Given the description of an element on the screen output the (x, y) to click on. 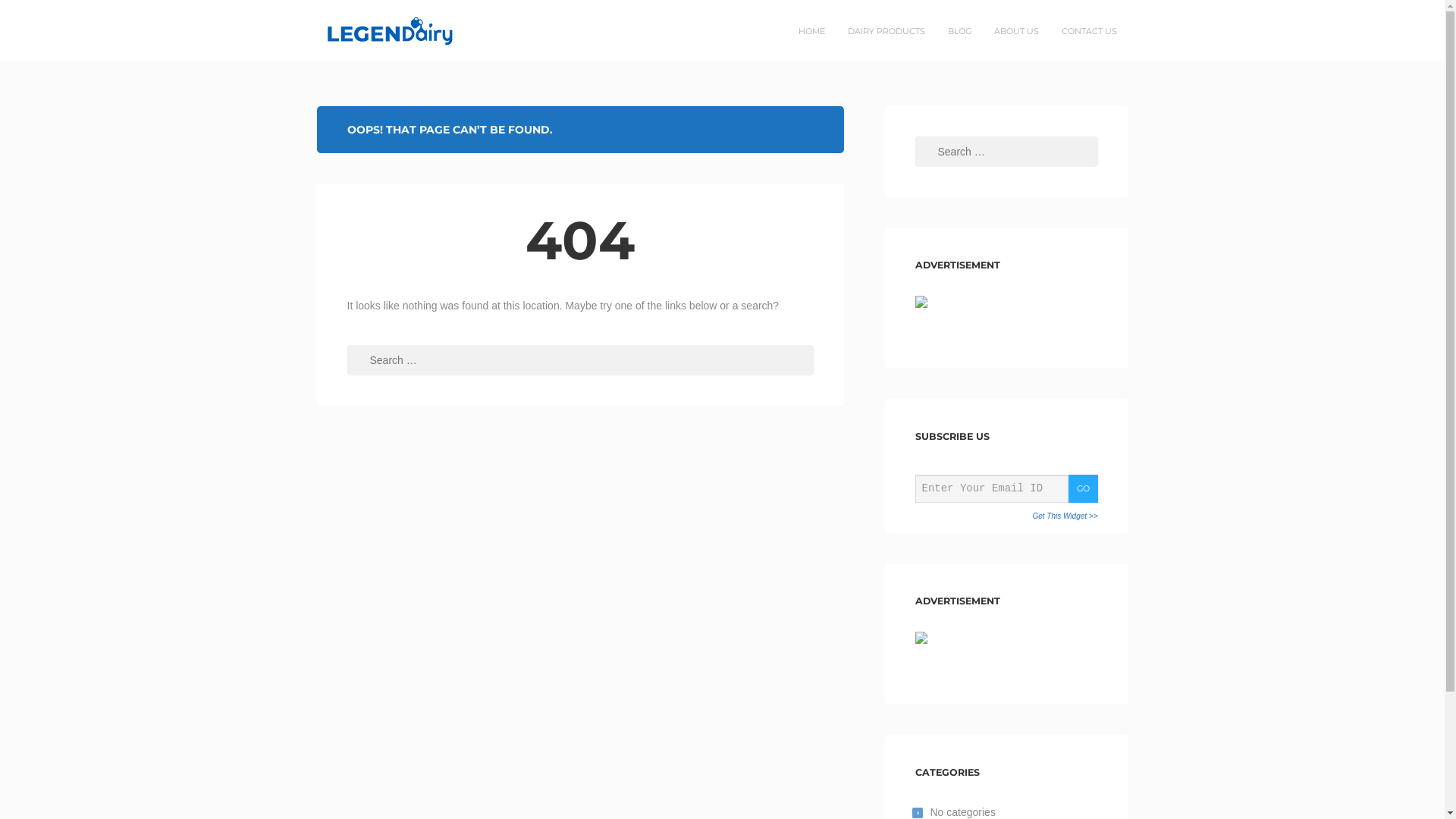
CONTACT US Element type: text (1088, 30)
HOME Element type: text (811, 30)
LEGEN DAIRY Element type: text (365, 29)
ABOUT US Element type: text (1016, 30)
Get This Widget >> Element type: text (1064, 516)
Search Element type: text (40, 14)
DAIRY PRODUCTS Element type: text (885, 30)
BLOG Element type: text (958, 30)
GO Element type: text (1082, 488)
